Given the description of an element on the screen output the (x, y) to click on. 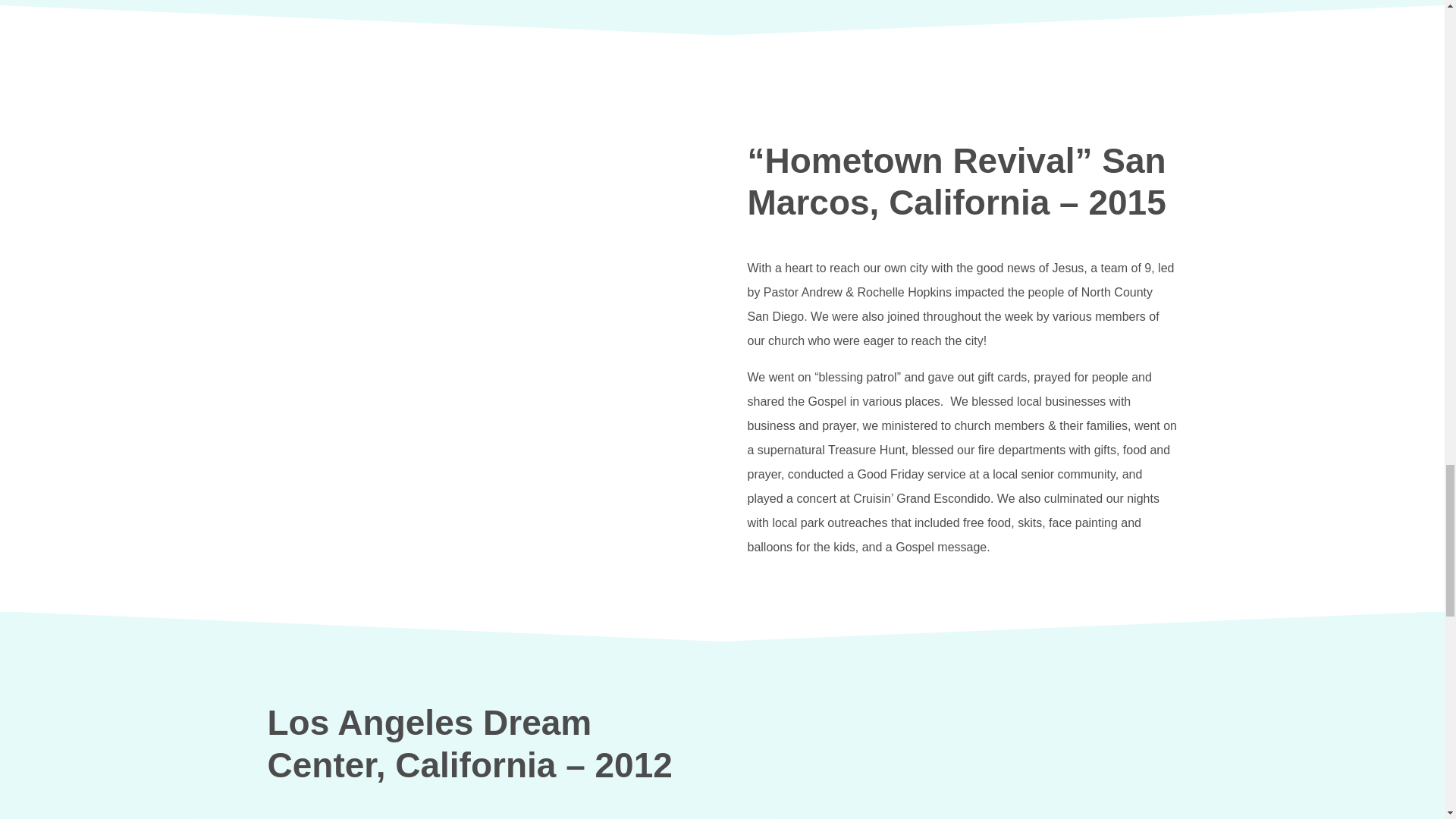
Hometown Revival Mission Trip 2015 (481, 261)
LA Dream Center 2012 (962, 760)
